Given the description of an element on the screen output the (x, y) to click on. 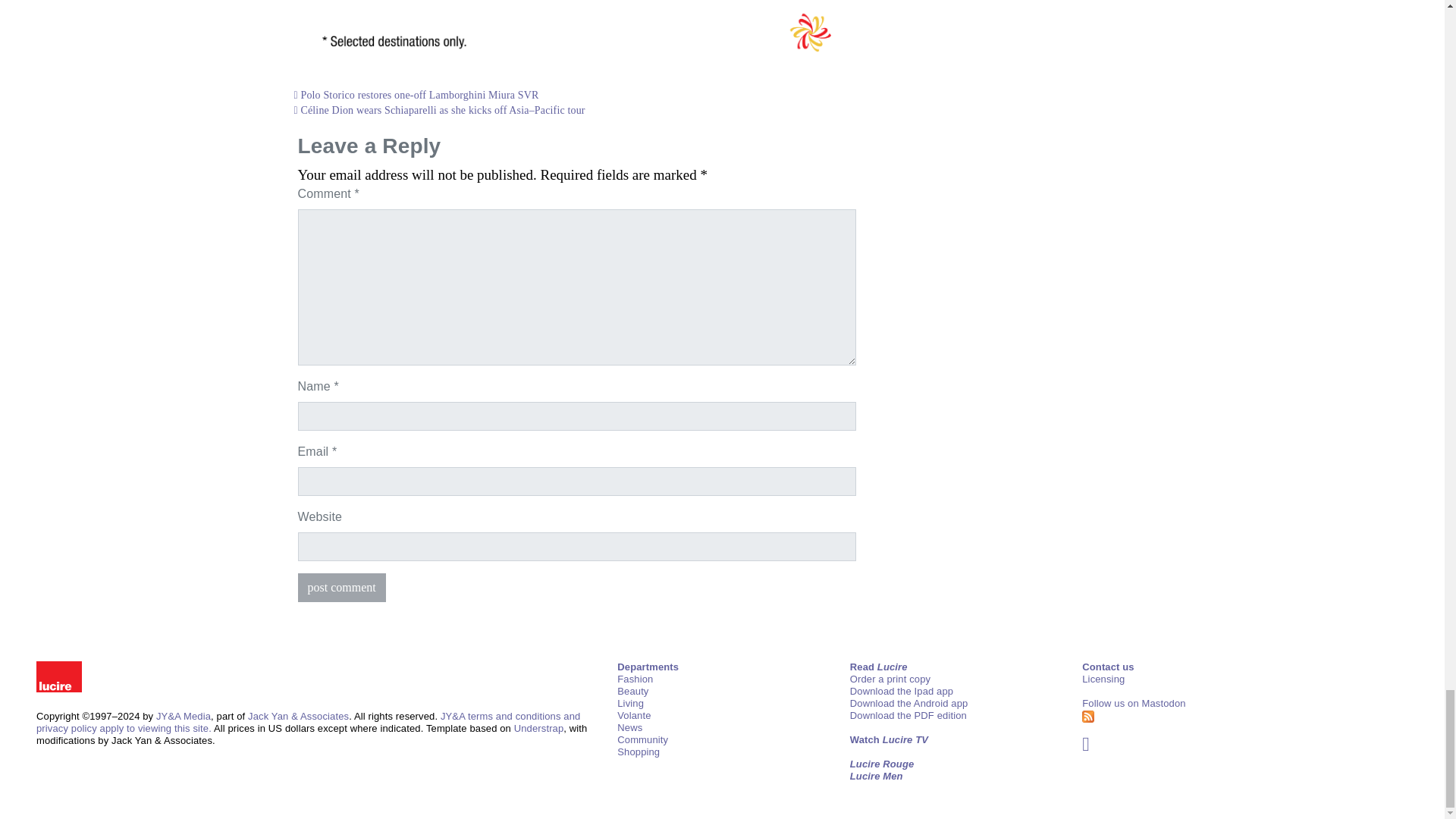
Post Comment (341, 587)
